Given the description of an element on the screen output the (x, y) to click on. 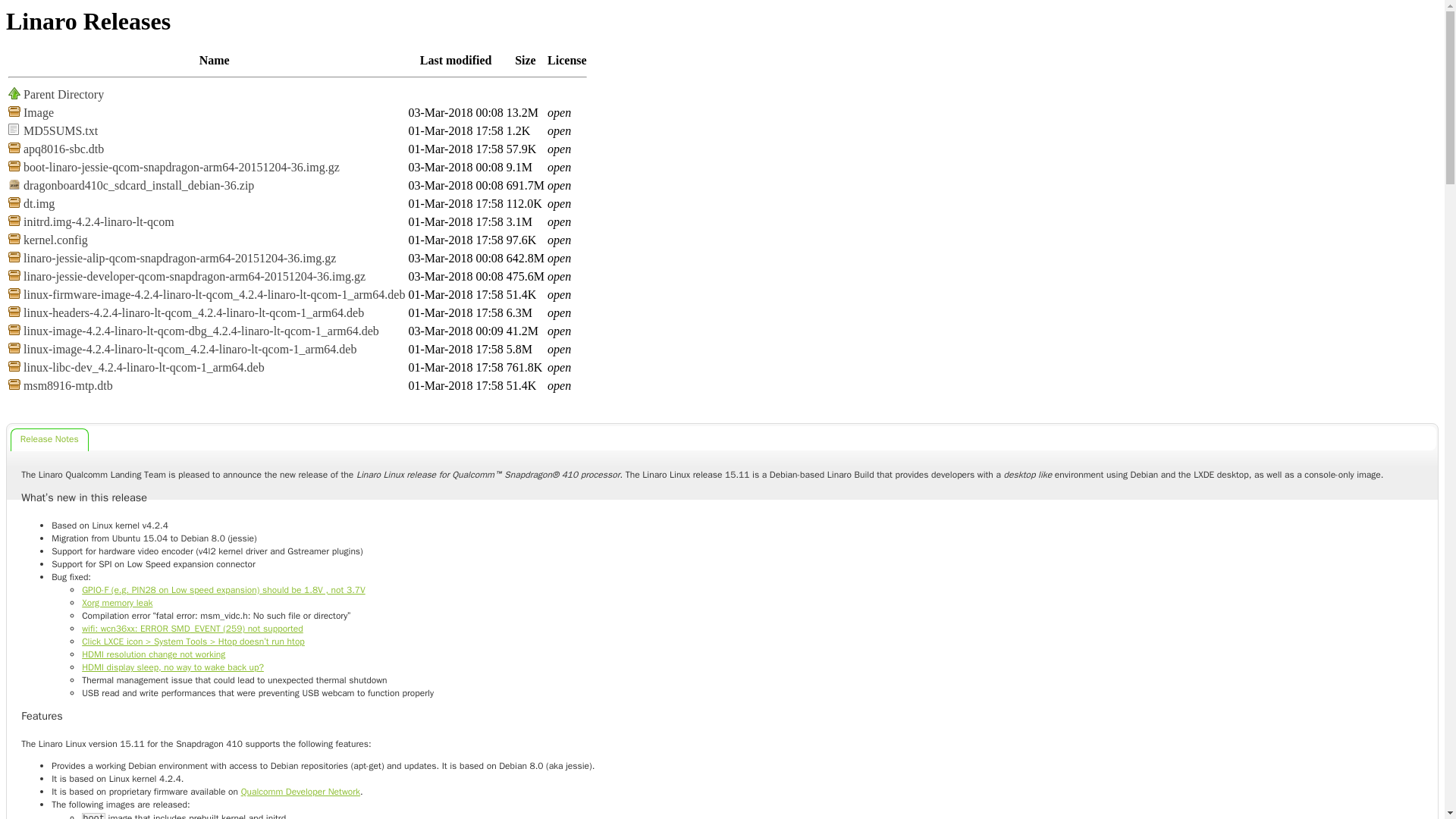
HDMI display sleep, no way to wake back up? (172, 666)
Release Notes (49, 439)
boot-linaro-jessie-qcom-snapdragon-arm64-20151204-36.img.gz (181, 166)
Xorg memory leak (116, 603)
apq8016-sbc.dtb (63, 148)
initrd.img-4.2.4-linaro-lt-qcom (98, 221)
Image (38, 112)
kernel.config (55, 239)
HDMI resolution change not working (153, 654)
dt.img (39, 203)
